Given the description of an element on the screen output the (x, y) to click on. 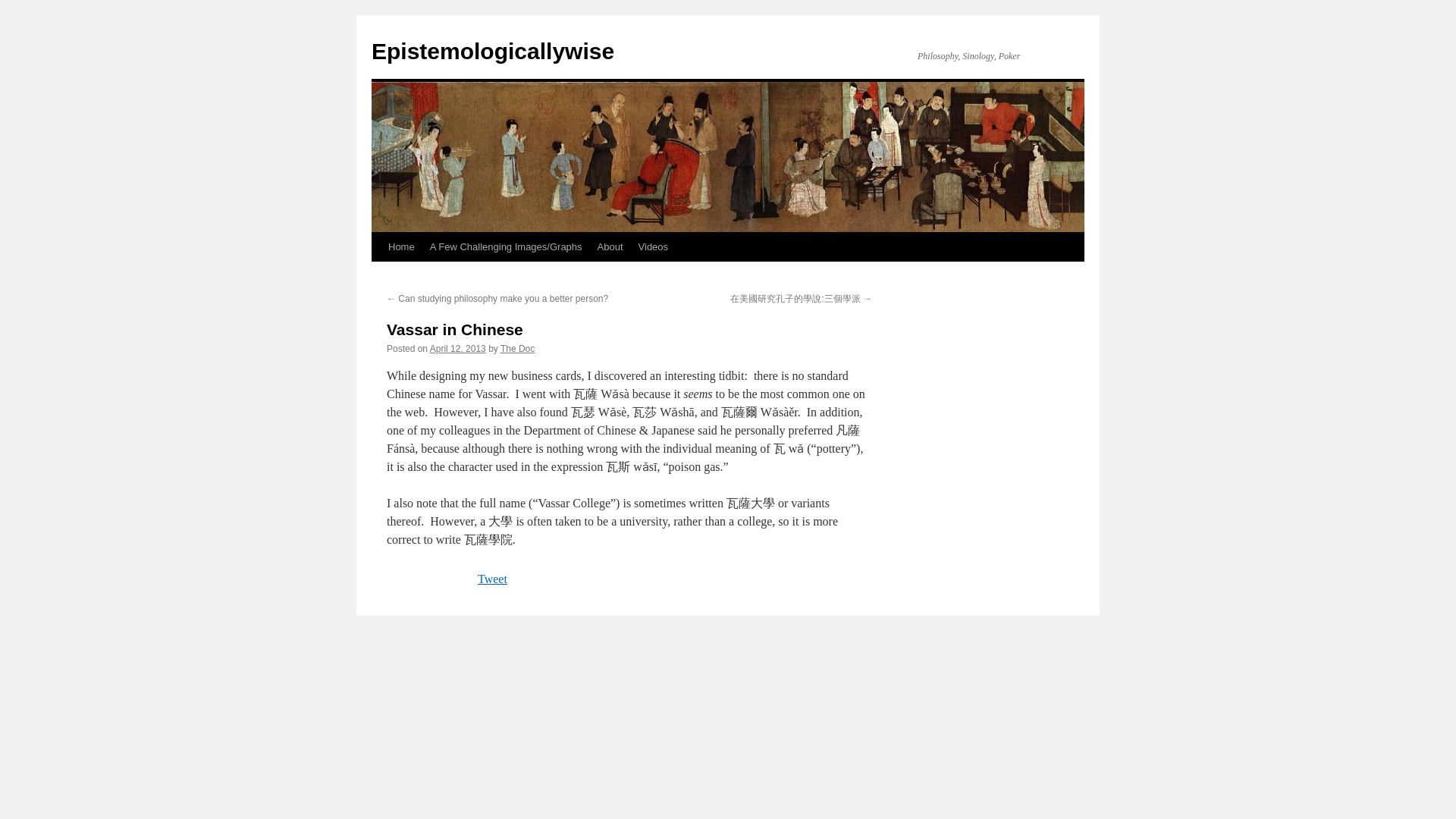
The Doc (517, 348)
Epistemologicallywise (492, 50)
View all posts by The Doc (517, 348)
About (609, 246)
Epistemologicallywise (492, 50)
Tweet (491, 578)
April 12, 2013 (457, 348)
12:55 pm (457, 348)
Home (401, 246)
Videos (653, 246)
